Given the description of an element on the screen output the (x, y) to click on. 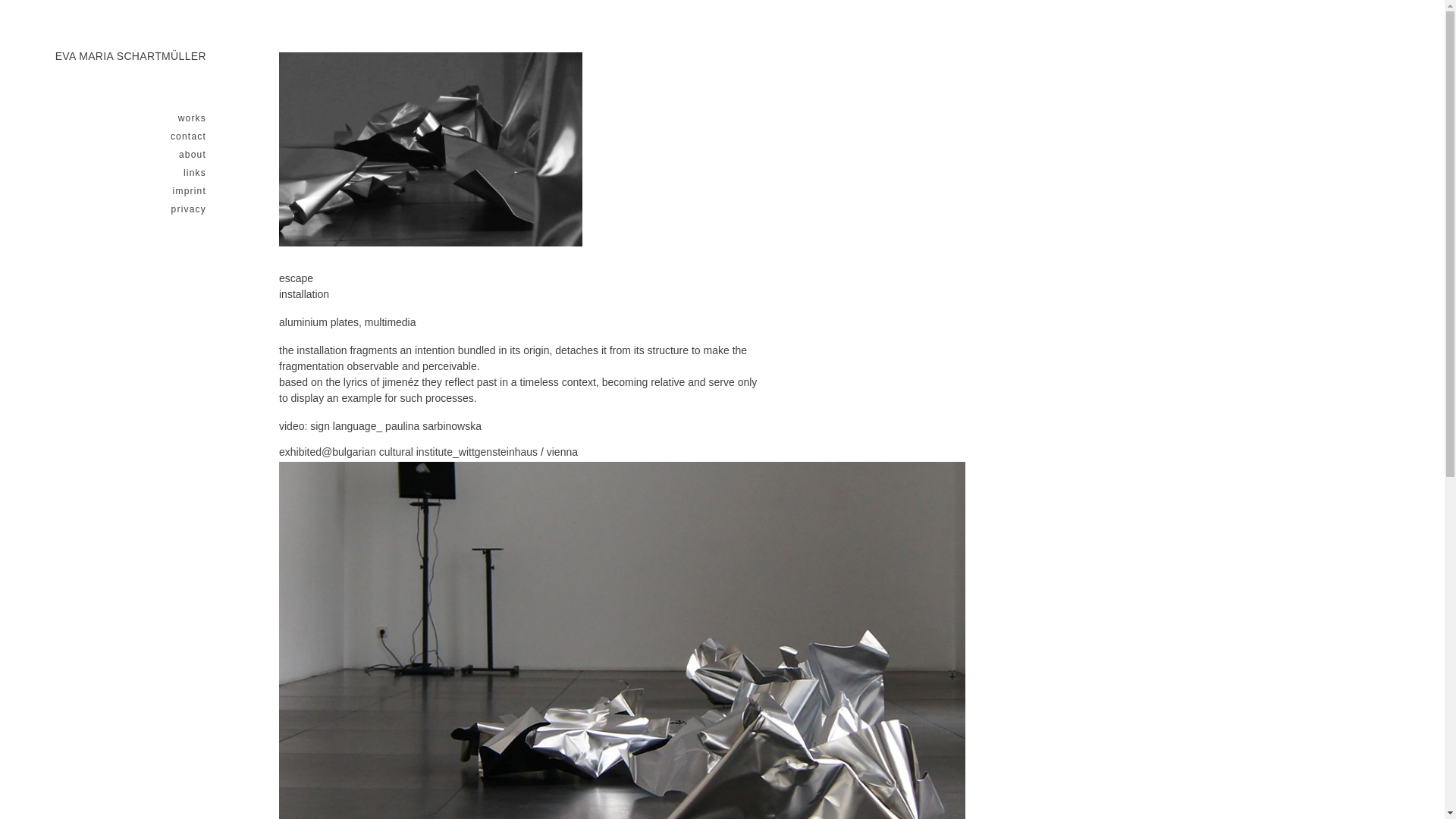
about (121, 154)
works (121, 118)
links (121, 173)
imprint (121, 191)
contact (121, 136)
privacy (121, 209)
